Given the description of an element on the screen output the (x, y) to click on. 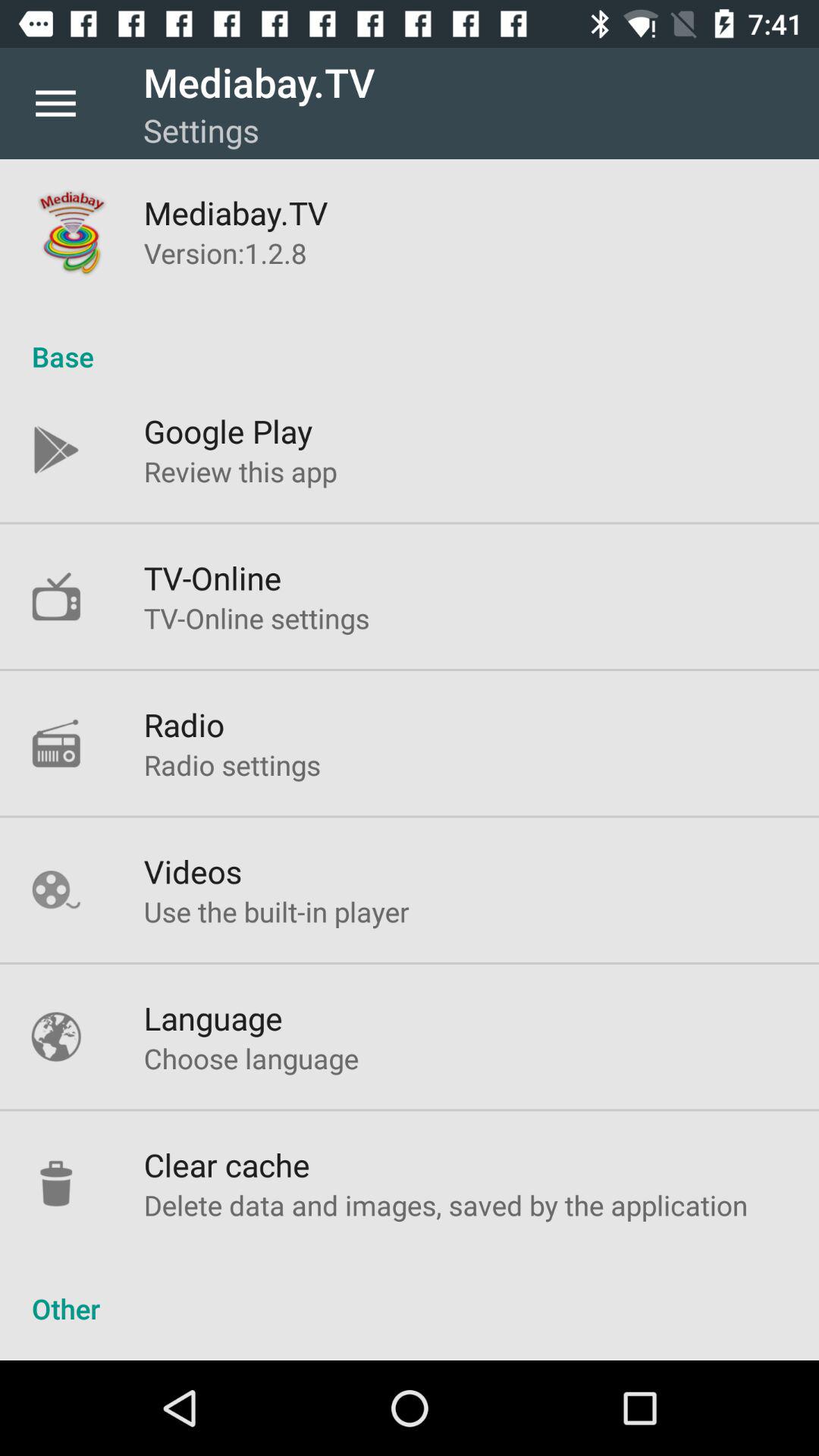
turn off videos (192, 870)
